Given the description of an element on the screen output the (x, y) to click on. 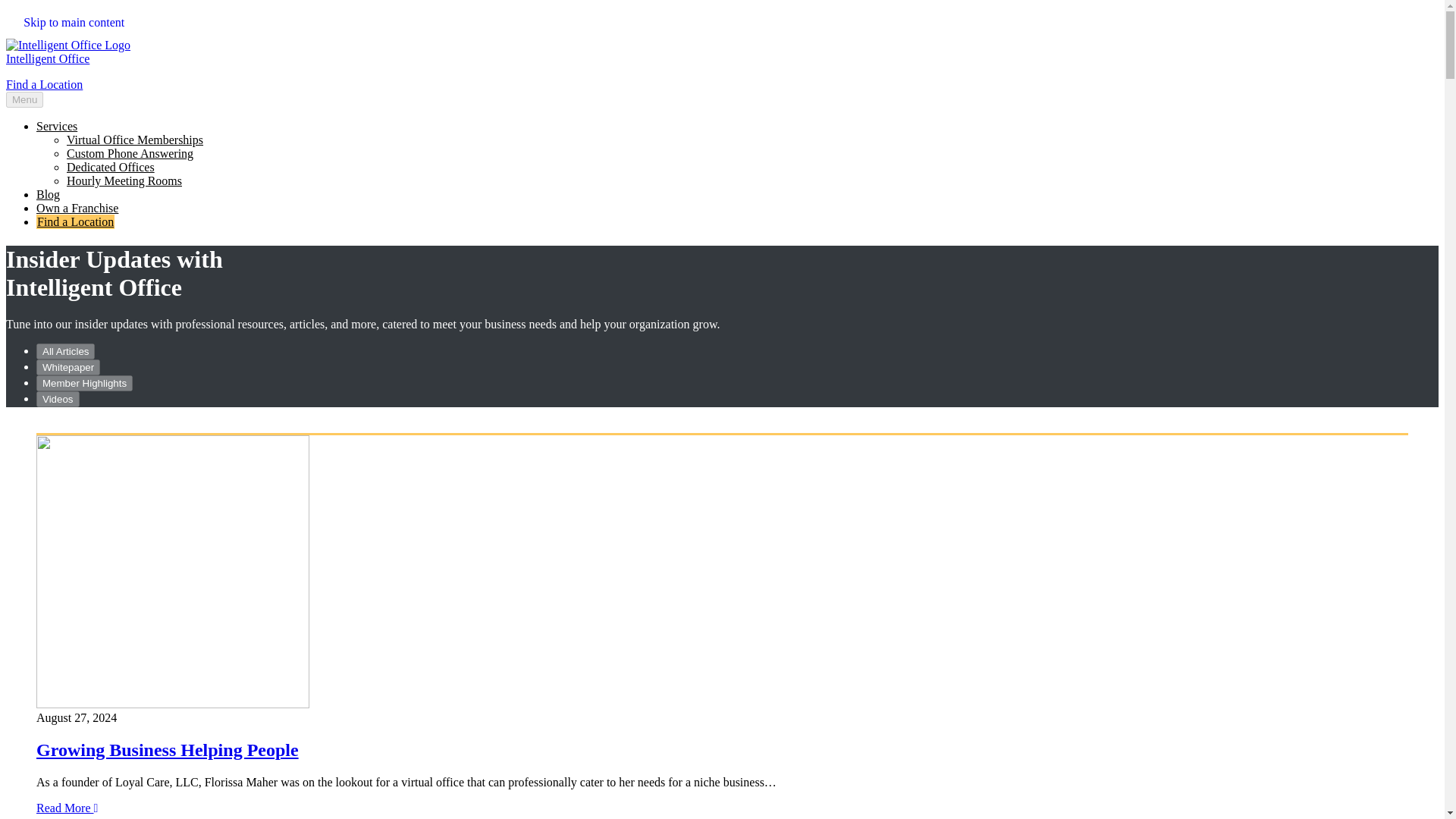
Dedicated Offices (110, 166)
Read More (66, 807)
Own a Franchise (76, 207)
Videos (58, 399)
All Articles (65, 351)
Menu (24, 99)
Hourly Meeting Rooms (124, 180)
Custom Phone Answering (129, 153)
Member Highlights (84, 383)
Virtual Office Memberships (134, 139)
